Given the description of an element on the screen output the (x, y) to click on. 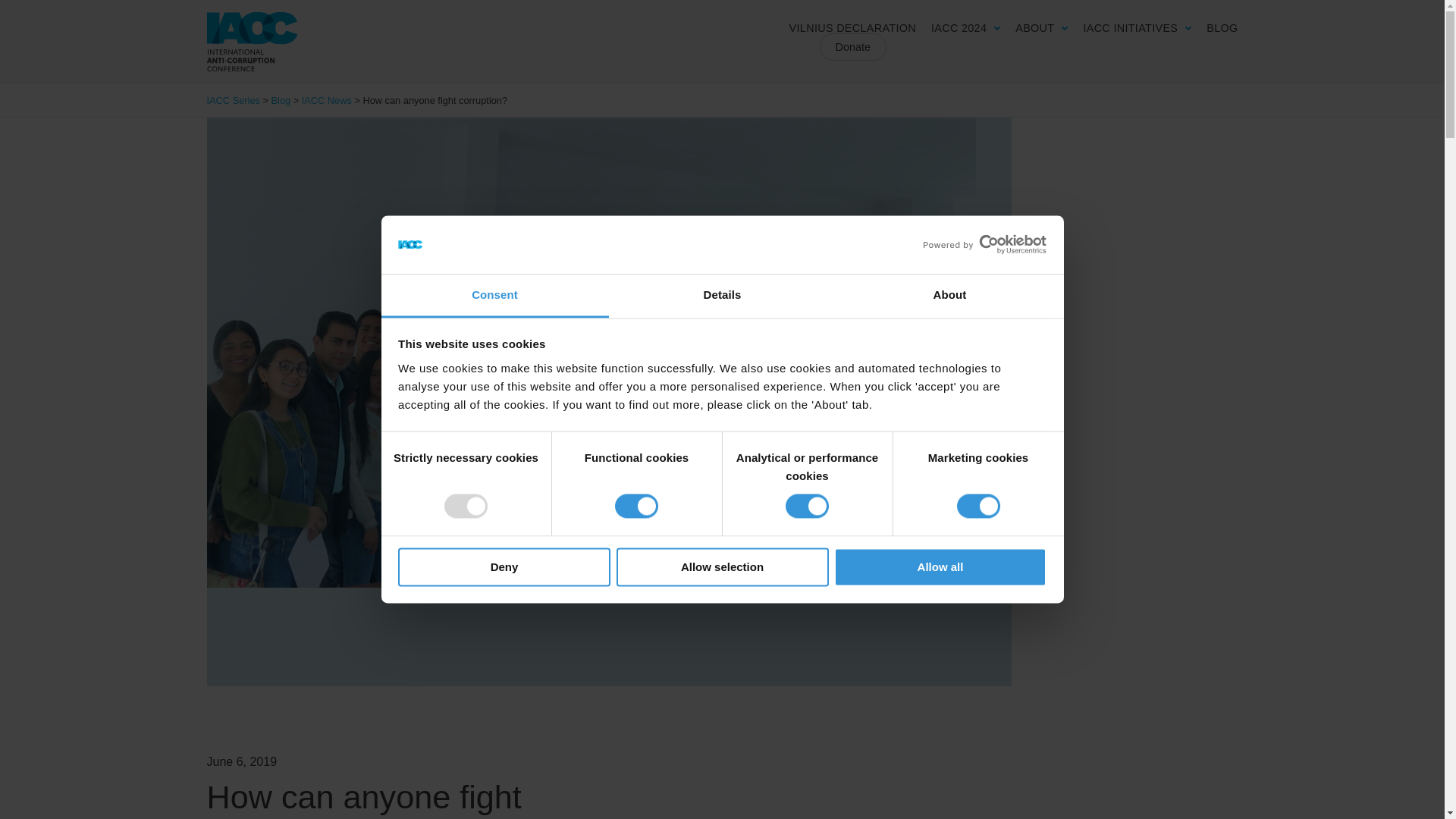
Go to IACC Series. (232, 100)
Details (721, 295)
Go to Blog. (280, 100)
About (948, 295)
Consent (494, 295)
IACC Series (251, 41)
